Given the description of an element on the screen output the (x, y) to click on. 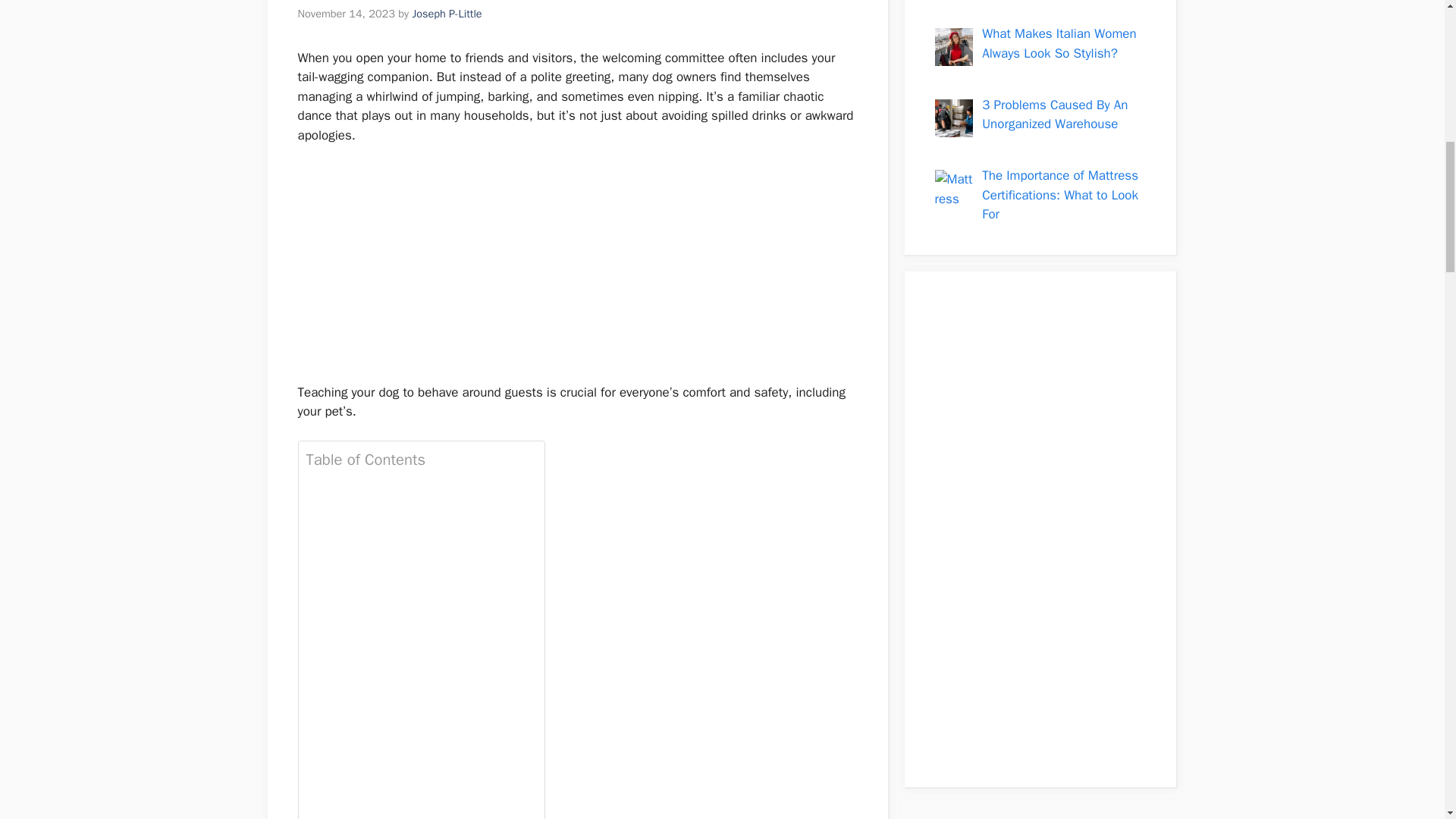
View all posts by Joseph P-Little (446, 13)
Joseph P-Little (446, 13)
